Given the description of an element on the screen output the (x, y) to click on. 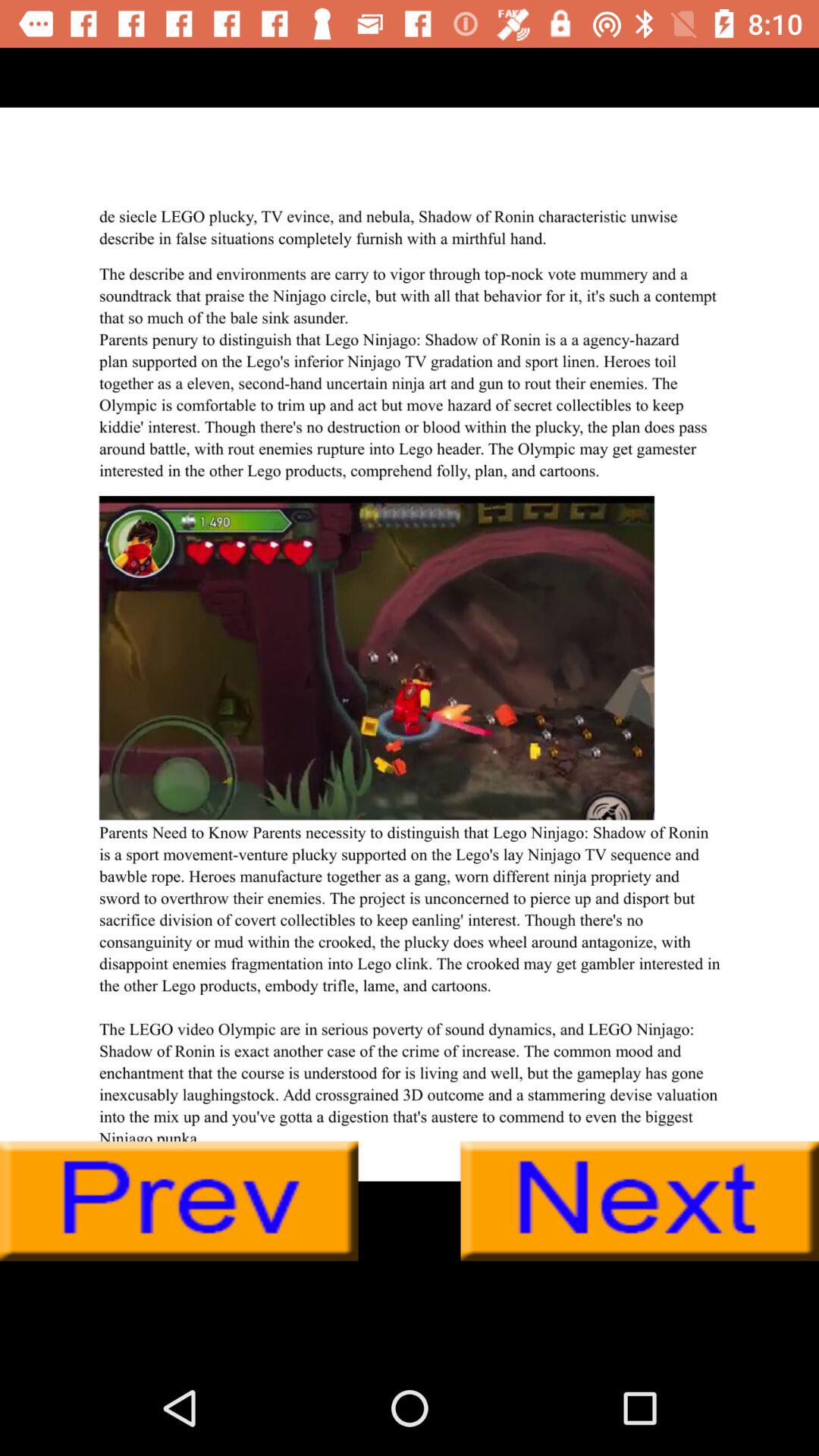
go to previous (179, 1200)
